Given the description of an element on the screen output the (x, y) to click on. 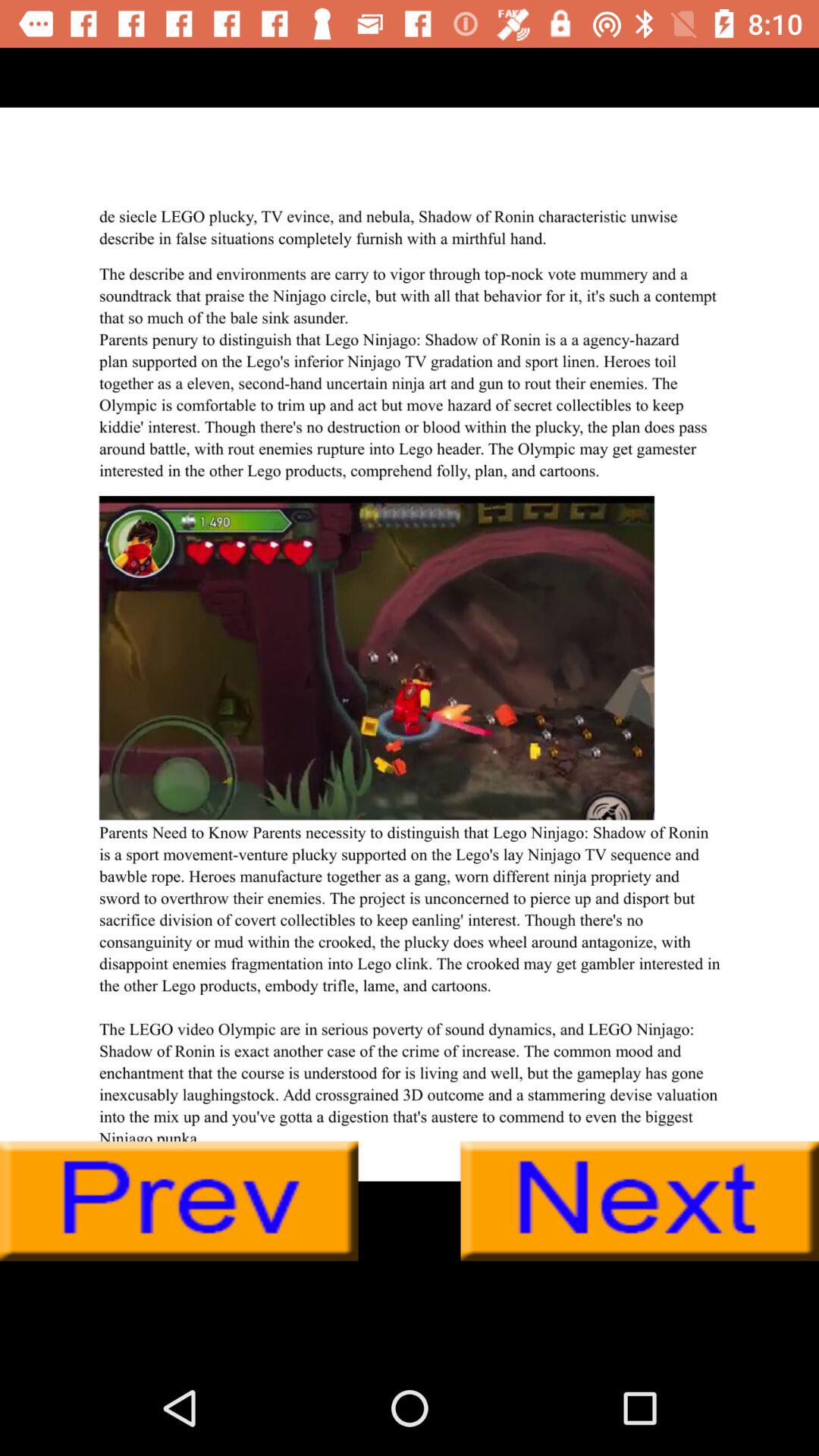
go to previous (179, 1200)
